Given the description of an element on the screen output the (x, y) to click on. 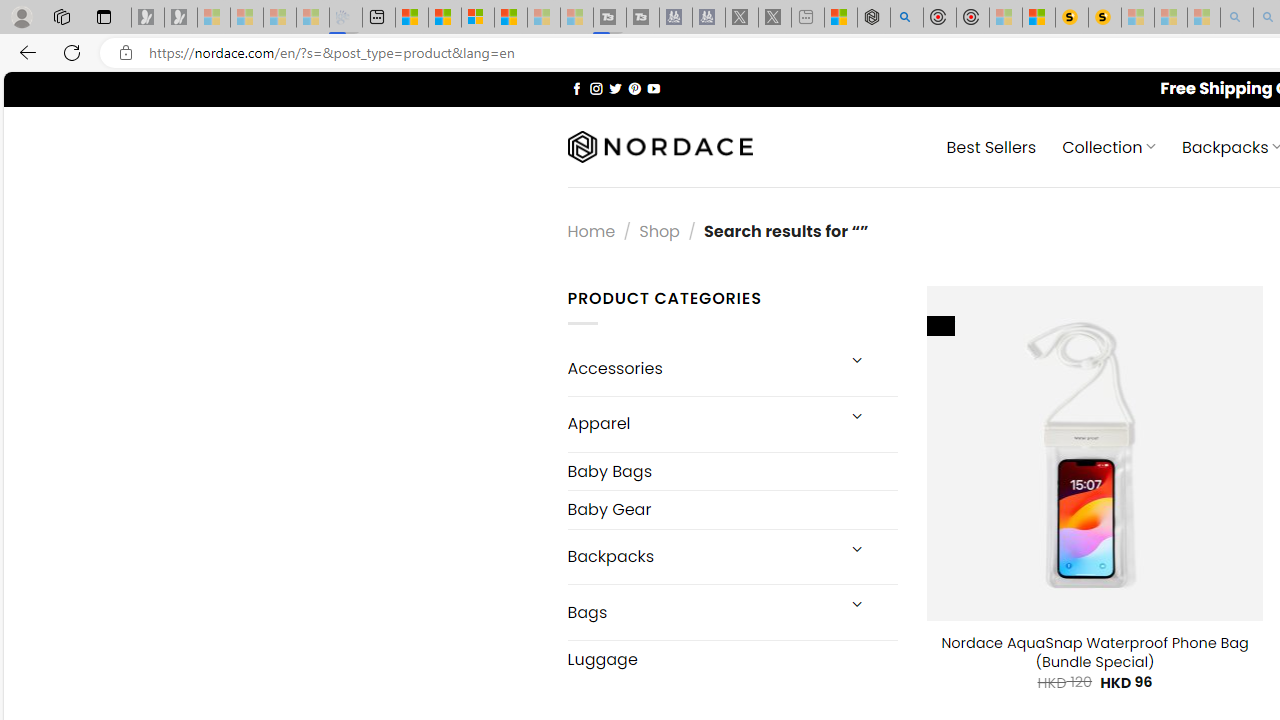
Follow on Pinterest (634, 88)
X - Sleeping (775, 17)
Backpacks (700, 556)
poe - Search (906, 17)
Overview (478, 17)
Shop (658, 230)
  Best Sellers (990, 146)
Tab actions menu (104, 16)
Baby Gear (732, 509)
